Given the description of an element on the screen output the (x, y) to click on. 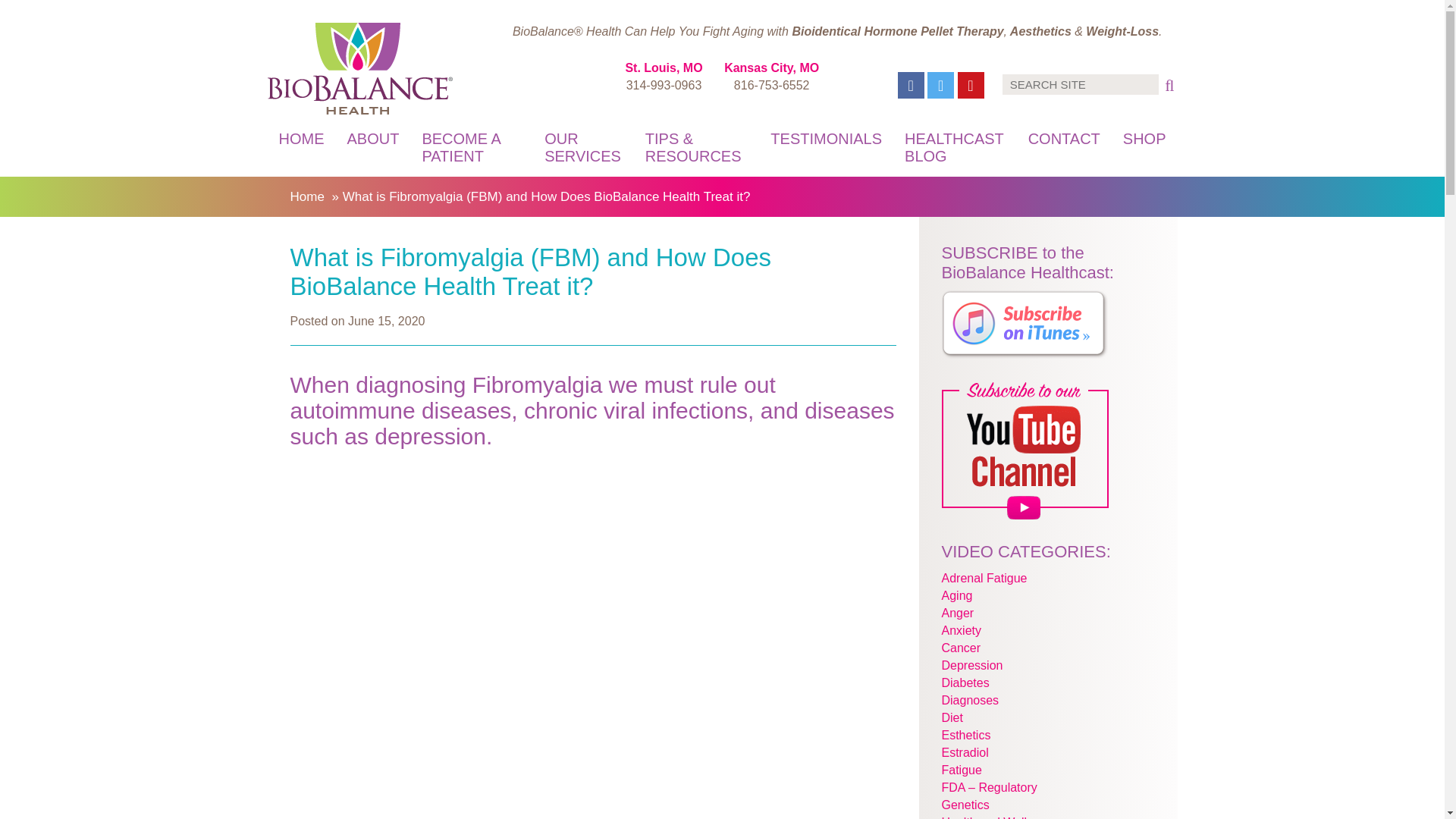
OUR SERVICES (582, 147)
HOME (300, 138)
St. Louis, MO (662, 67)
BECOME A PATIENT (471, 147)
Kansas City, MO (770, 67)
ABOUT (372, 138)
